Given the description of an element on the screen output the (x, y) to click on. 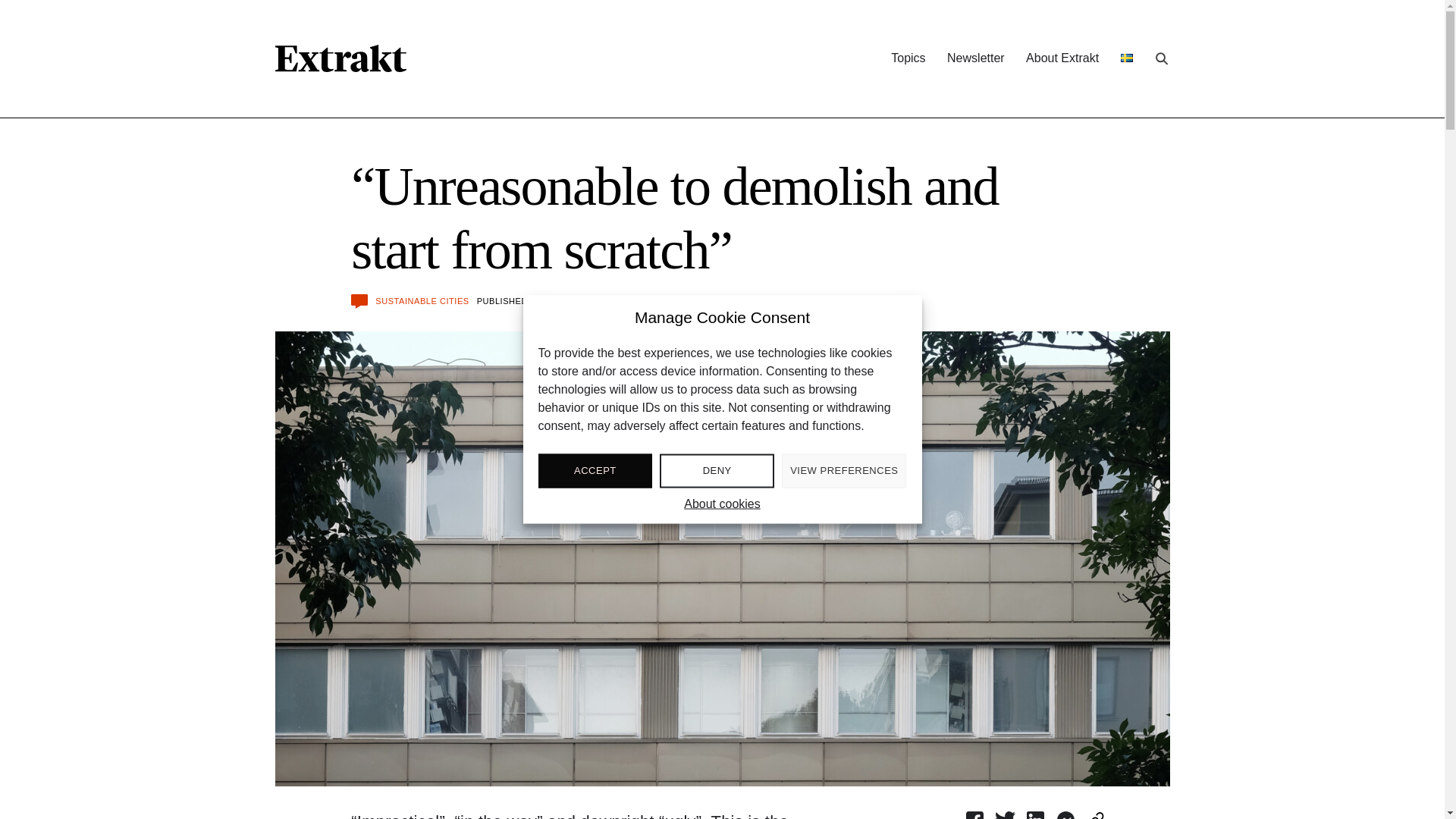
ACCEPT (595, 470)
Newsletter (975, 57)
About Extrakt (1062, 57)
SUSTAINABLE CITIES (421, 301)
About cookies (722, 503)
VIEW PREFERENCES (843, 470)
DENY (716, 470)
Topics (908, 57)
